Given the description of an element on the screen output the (x, y) to click on. 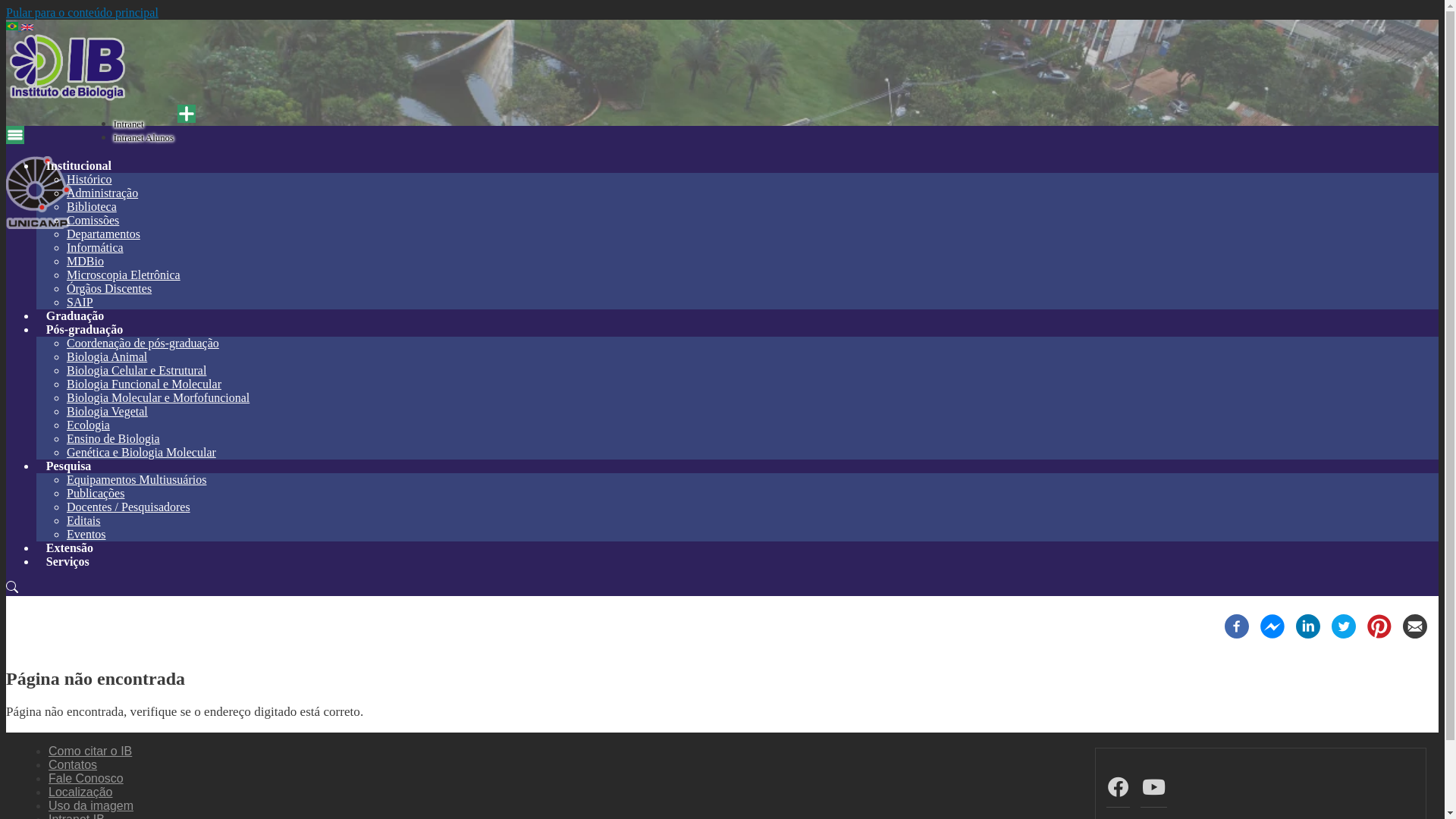
Biologia Vegetal Element type: text (106, 410)
Docentes / Pesquisadores Element type: text (128, 506)
Fale Conosco Element type: text (85, 777)
Biblioteca Element type: text (91, 206)
Departamentos Element type: text (103, 233)
Linkedin Element type: hover (1307, 633)
SAIP Element type: text (79, 301)
Biologia Funcional e Molecular Element type: text (143, 383)
Ecologia Element type: text (87, 424)
Intranet Element type: text (128, 124)
Eventos Element type: text (86, 533)
Instituto de Biologia Element type: hover (68, 97)
Biologia Molecular e Morfofuncional Element type: text (157, 397)
Pinterest Element type: hover (1379, 633)
Biologia Animal Element type: text (106, 356)
Intranet Alunos Element type: text (143, 137)
Twitter Element type: hover (1343, 633)
Como citar o IB Element type: text (89, 750)
Pesquisa Element type: text (68, 465)
Institucional Element type: text (78, 165)
Contatos Element type: text (72, 764)
Facebook Element type: hover (1236, 633)
English Element type: hover (27, 27)
Ensino de Biologia Element type: text (113, 438)
MDBio Element type: text (84, 260)
Portuguese, Brazil Element type: hover (12, 25)
Facebook messenger Element type: hover (1272, 633)
Biologia Celular e Estrutural Element type: text (136, 370)
E-mail Element type: hover (1414, 633)
Editais Element type: text (83, 520)
https://github.com/twbs/icons/blob/main/LICENSE.md Element type: text (12, 588)
Uso da imagem Element type: text (90, 805)
